Given the description of an element on the screen output the (x, y) to click on. 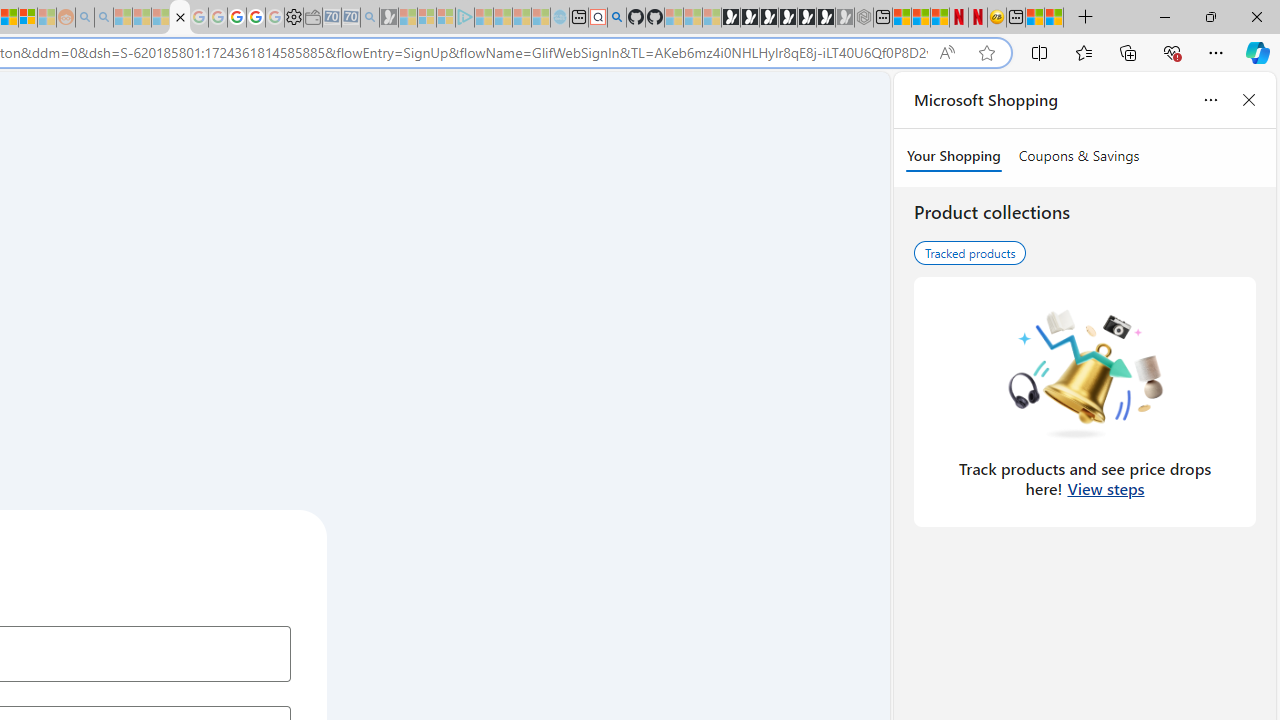
github - Search (616, 17)
